Given the description of an element on the screen output the (x, y) to click on. 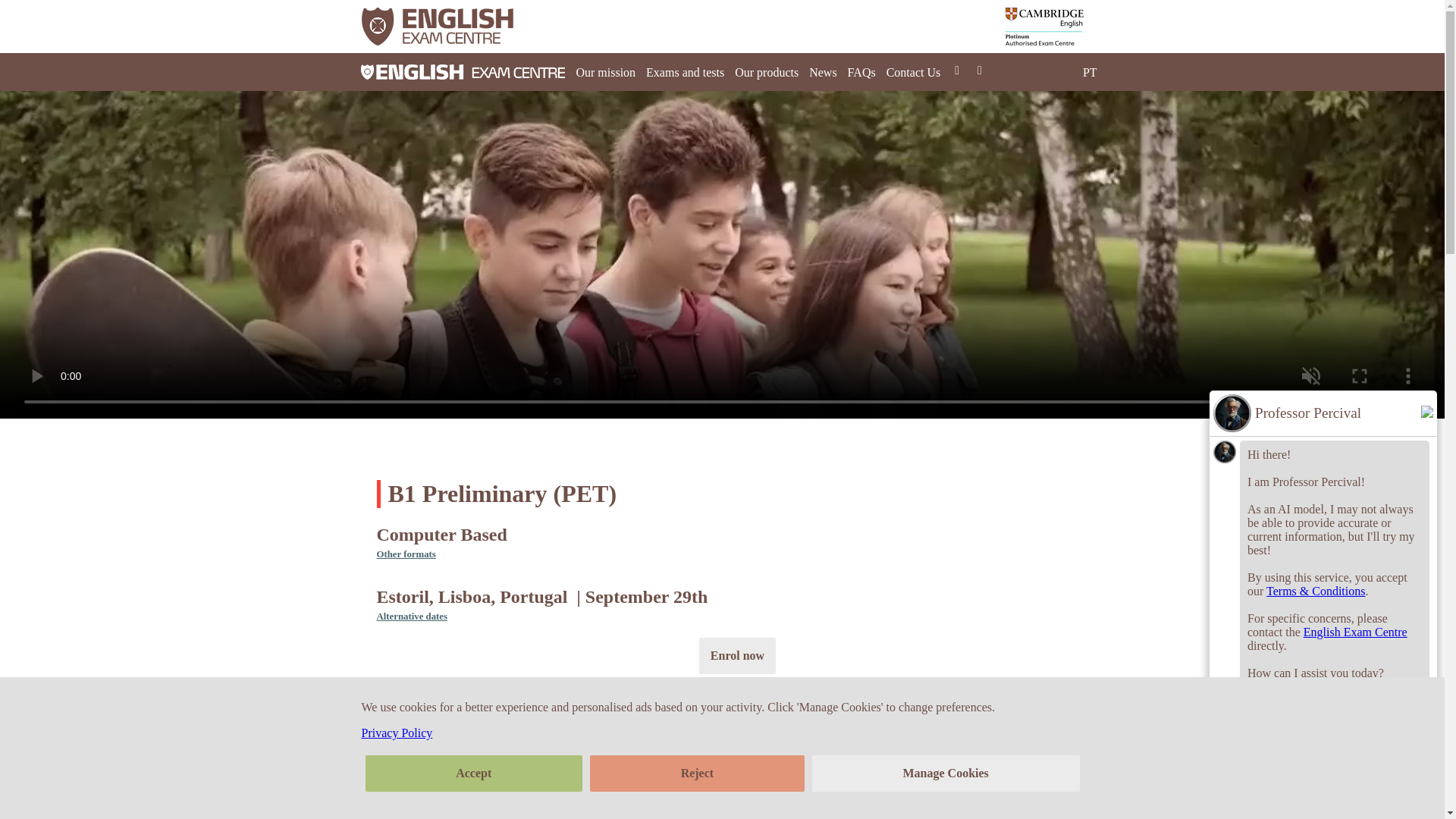
Exams and tests (684, 71)
Alternative dates (410, 616)
Other formats (405, 554)
Our products (766, 71)
Contact Us (913, 71)
Our mission (604, 71)
